Given the description of an element on the screen output the (x, y) to click on. 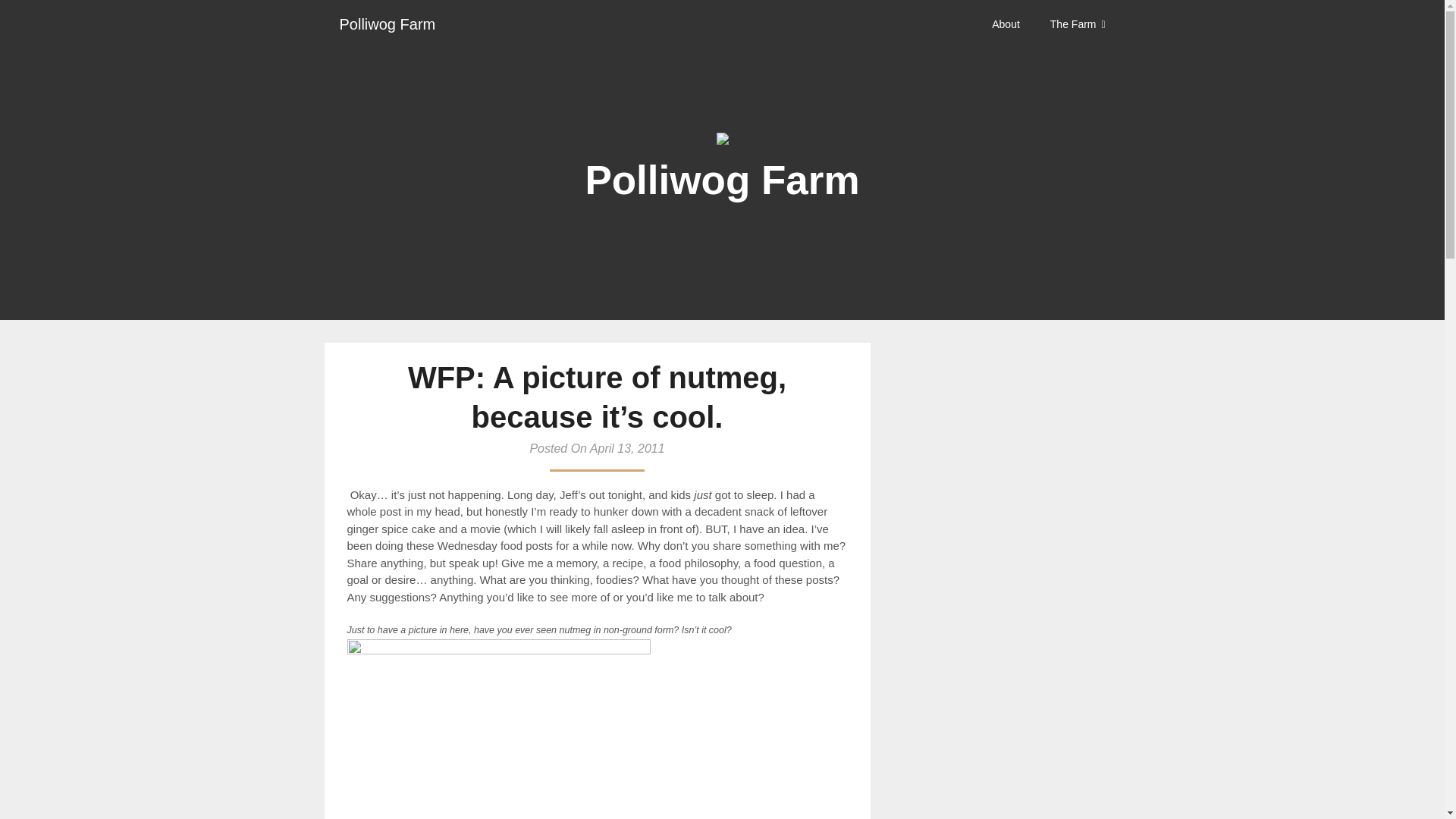
The Farm (1078, 24)
Polliwog Farm (387, 24)
About (1013, 24)
